Given the description of an element on the screen output the (x, y) to click on. 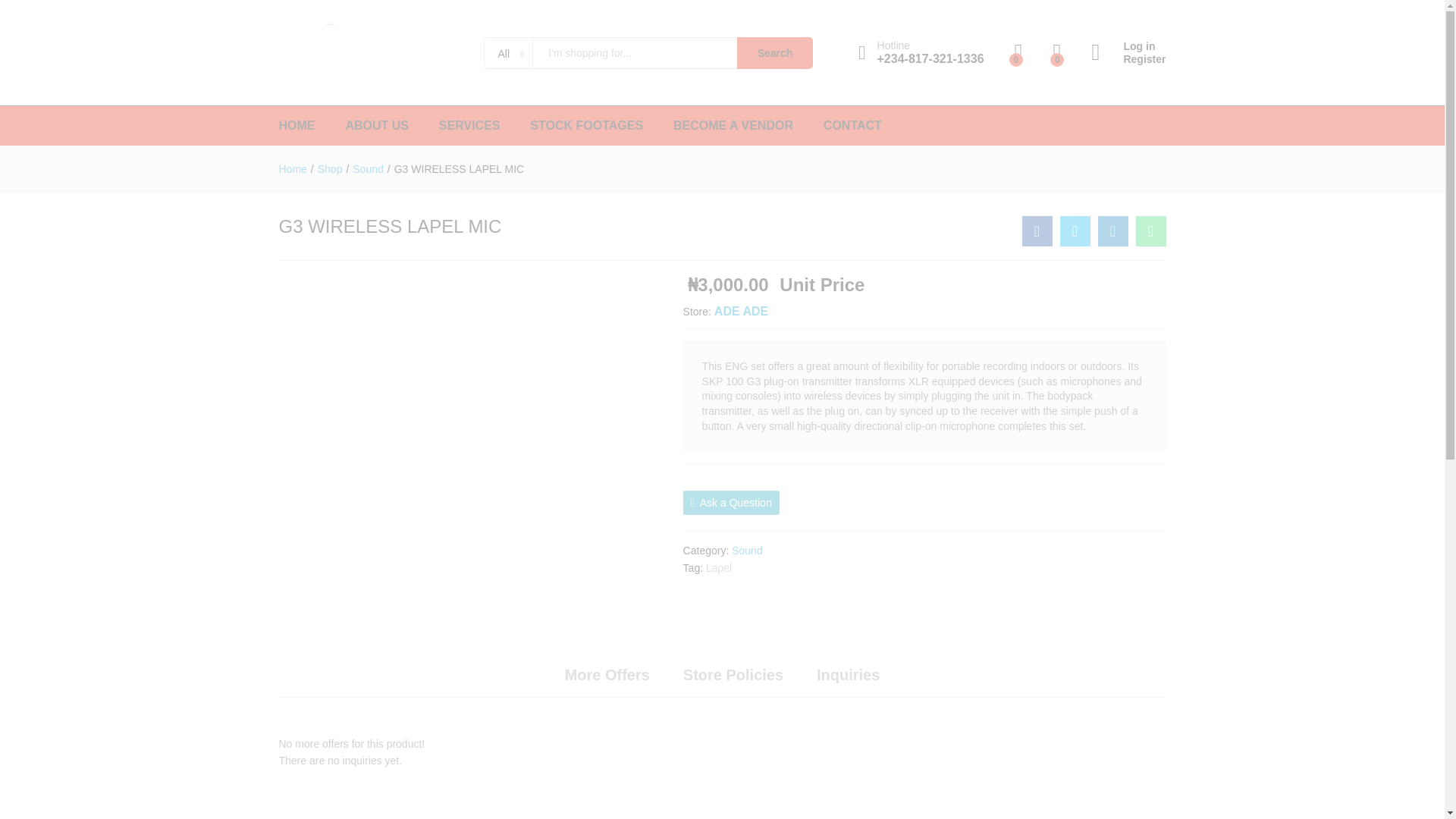
Home (293, 168)
Inquiries (847, 674)
SERVICES (469, 125)
ADE ADE (741, 310)
Lapel (719, 567)
G3 WIRELESS LAPEL MIC (459, 168)
Register (1128, 59)
HOME (297, 125)
STOCK FOOTAGES (586, 125)
Shop (329, 168)
Sound (746, 550)
BECOME A VENDOR (732, 125)
ABOUT US (377, 125)
Log in (1128, 46)
More Offers (606, 674)
